Given the description of an element on the screen output the (x, y) to click on. 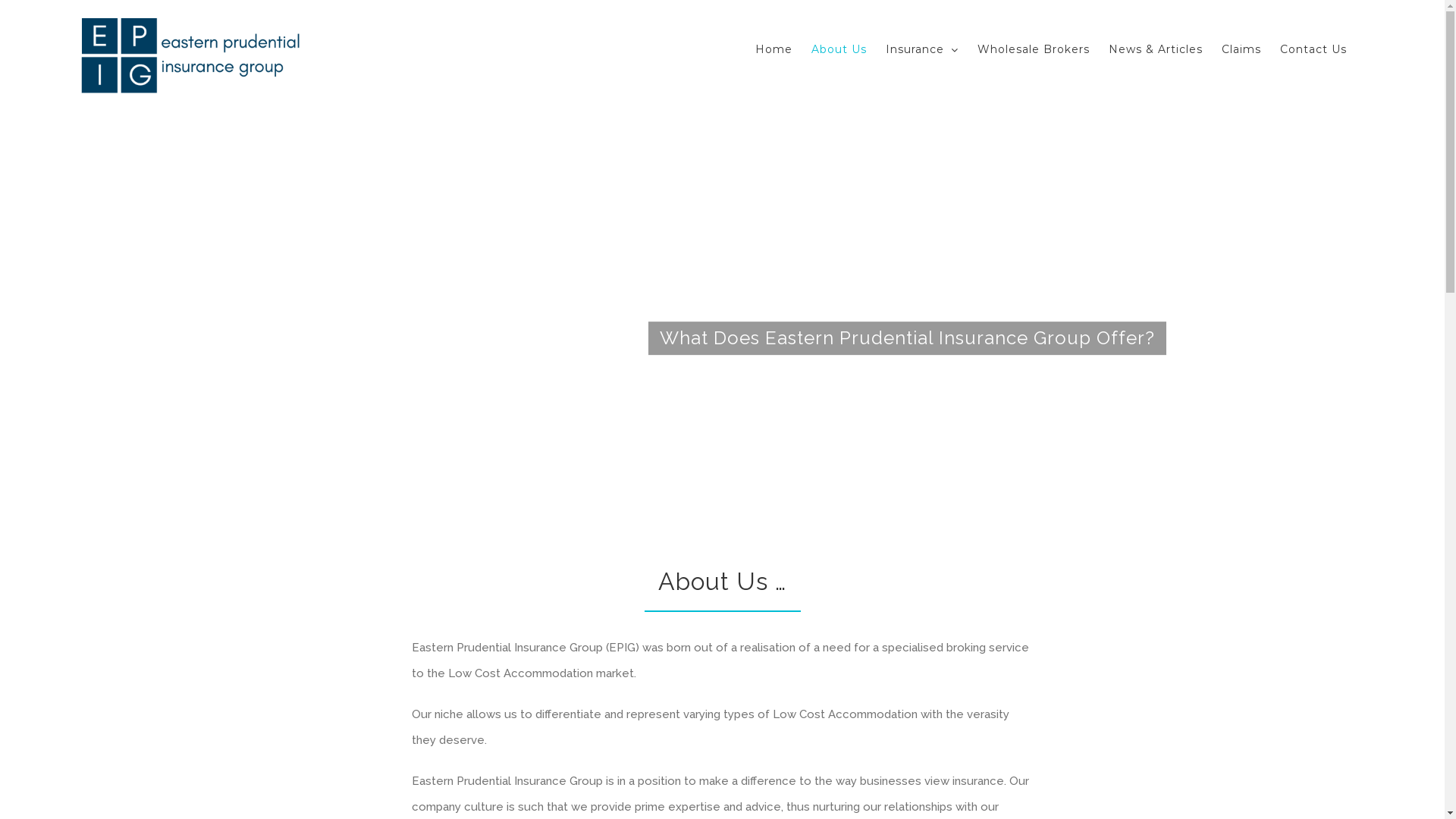
Wholesale Brokers Element type: text (1033, 49)
Insurance Element type: text (921, 49)
Contact Us Element type: text (1313, 49)
News & Articles Element type: text (1155, 49)
Claims Element type: text (1241, 49)
Home Element type: text (773, 49)
About Us Element type: text (838, 49)
